Given the description of an element on the screen output the (x, y) to click on. 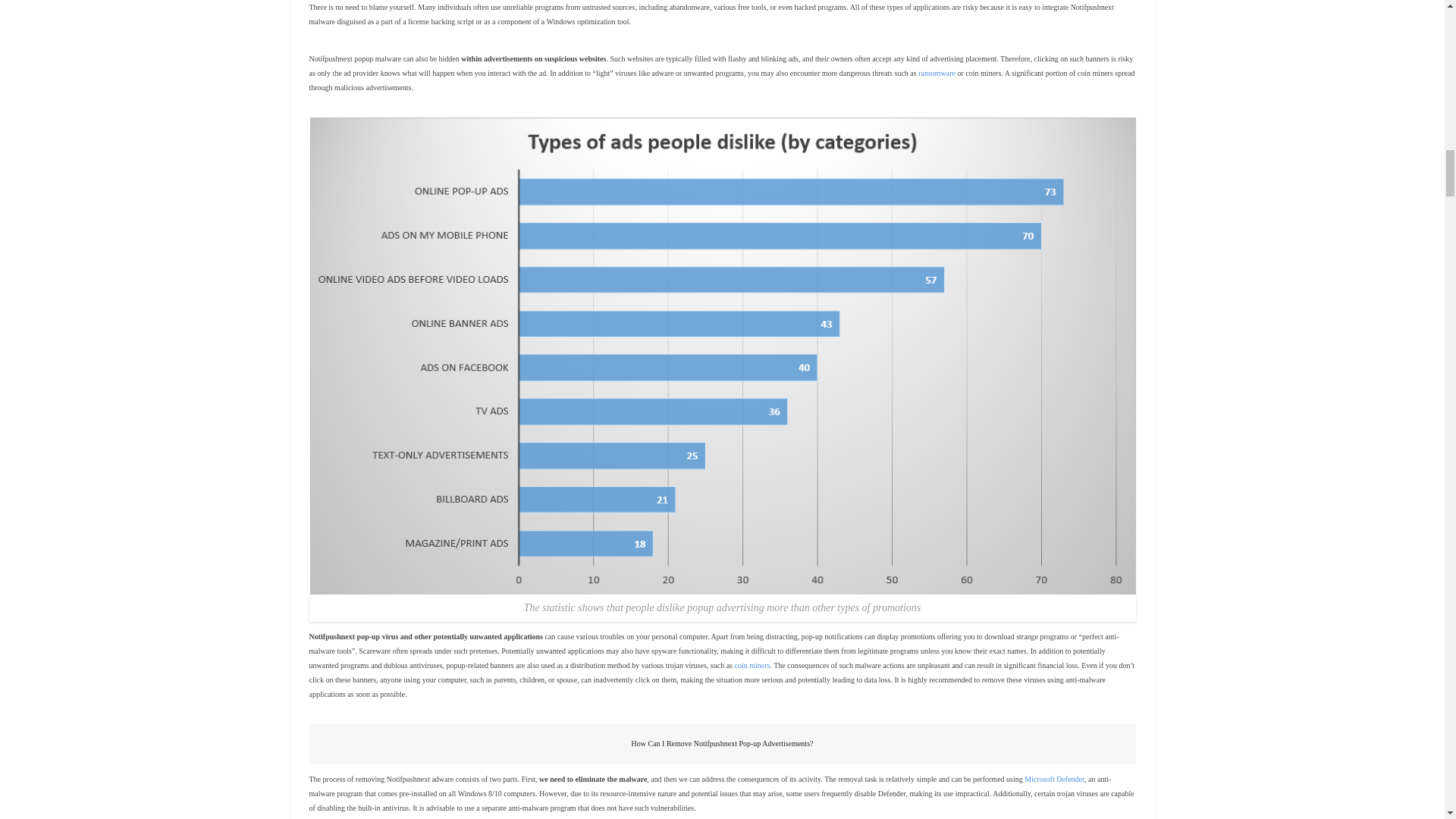
ransomware (936, 72)
coin miners (751, 664)
